Given the description of an element on the screen output the (x, y) to click on. 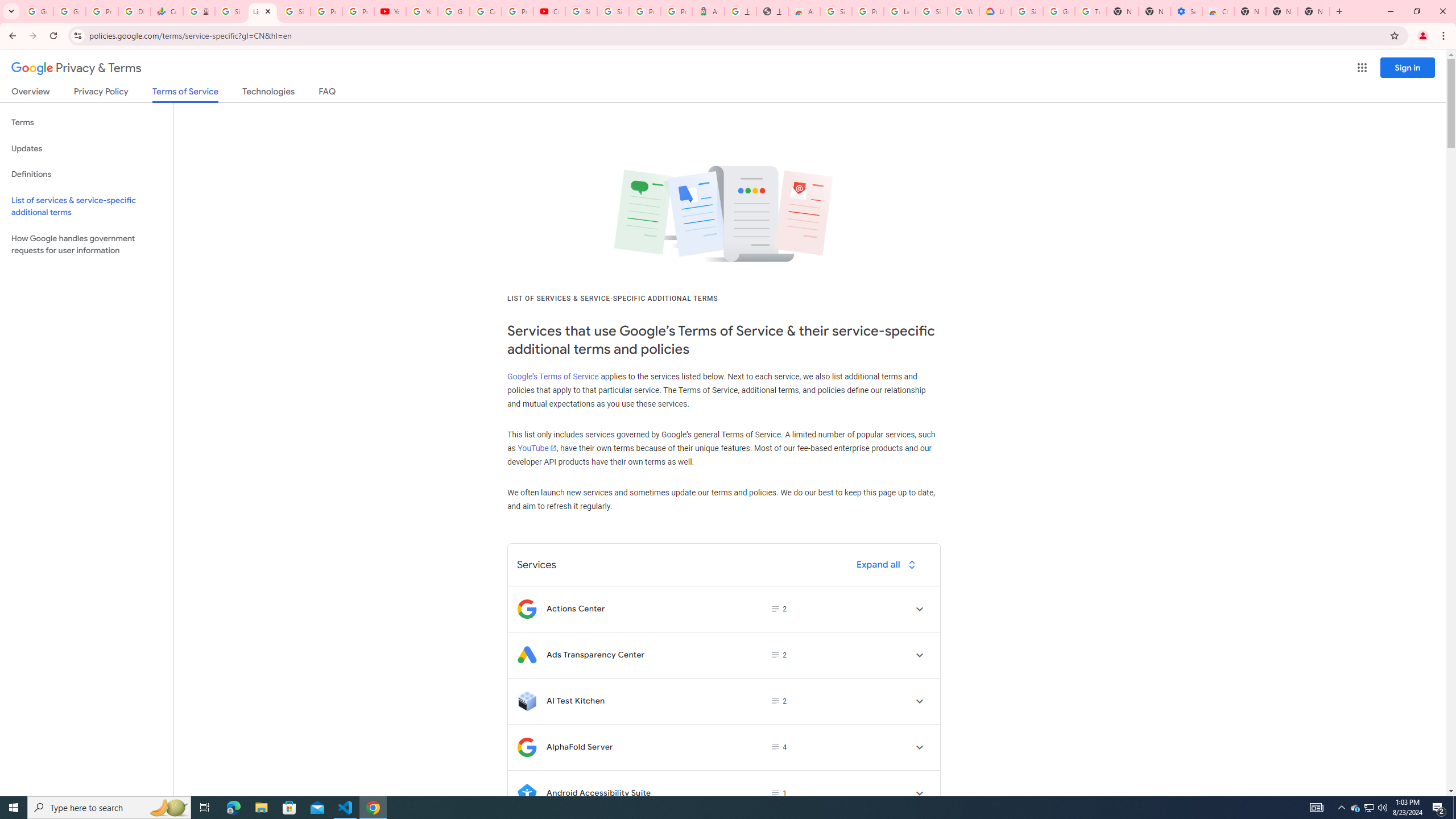
YouTube (389, 11)
New Tab (1249, 11)
Chrome Web Store - Accessibility extensions (1217, 11)
Settings - Accessibility (1185, 11)
Create your Google Account (485, 11)
Currencies - Google Finance (166, 11)
